Given the description of an element on the screen output the (x, y) to click on. 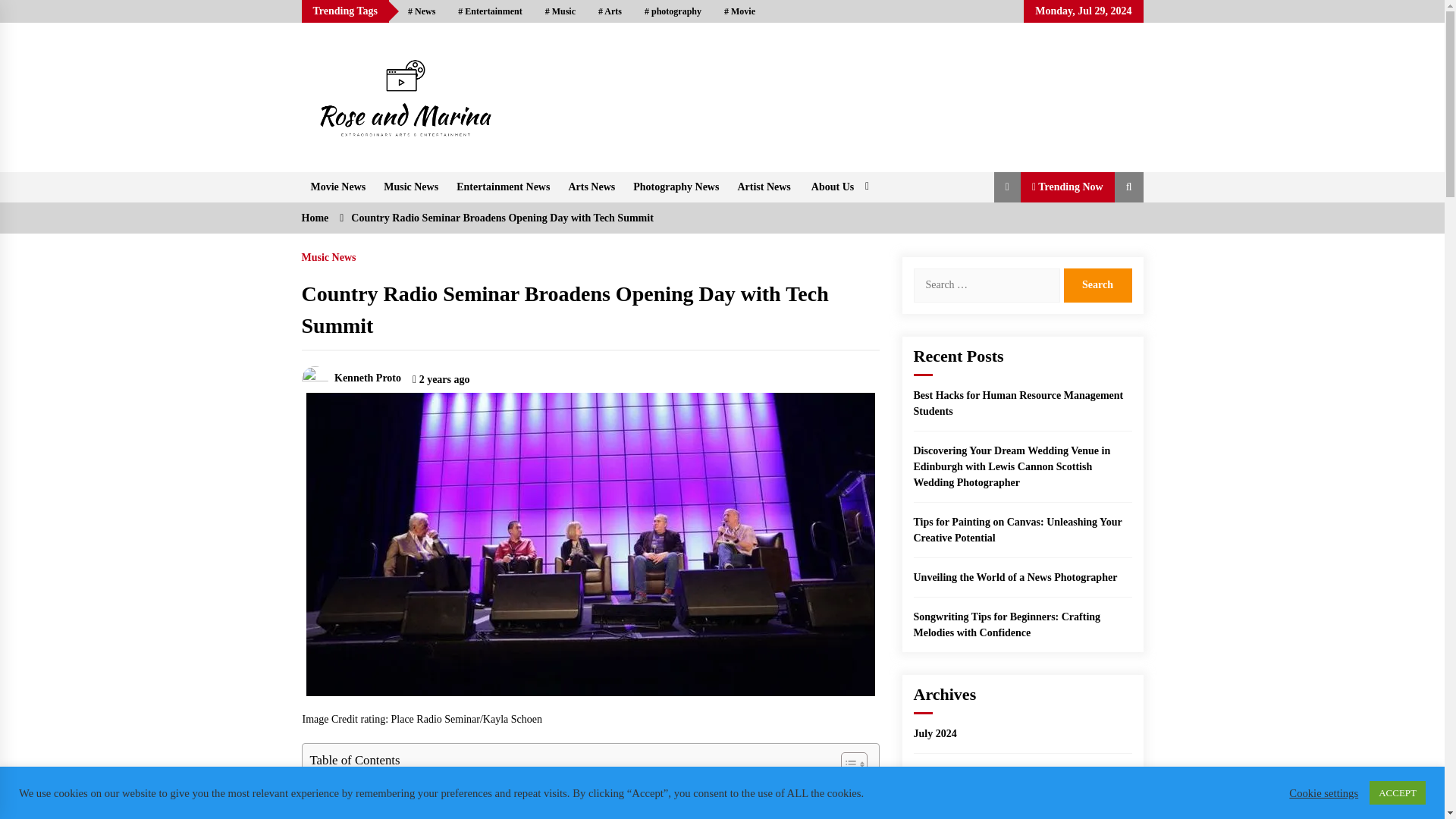
Photography News (676, 186)
About Us (837, 186)
Music (560, 11)
Entertainment (489, 11)
Search (1096, 285)
photography (673, 11)
Entertainment News (502, 186)
Movie News (338, 186)
Artist News (763, 186)
Search (1096, 285)
Arts (609, 11)
Music News (410, 186)
News (421, 11)
Movie (740, 11)
Arts News (591, 186)
